Given the description of an element on the screen output the (x, y) to click on. 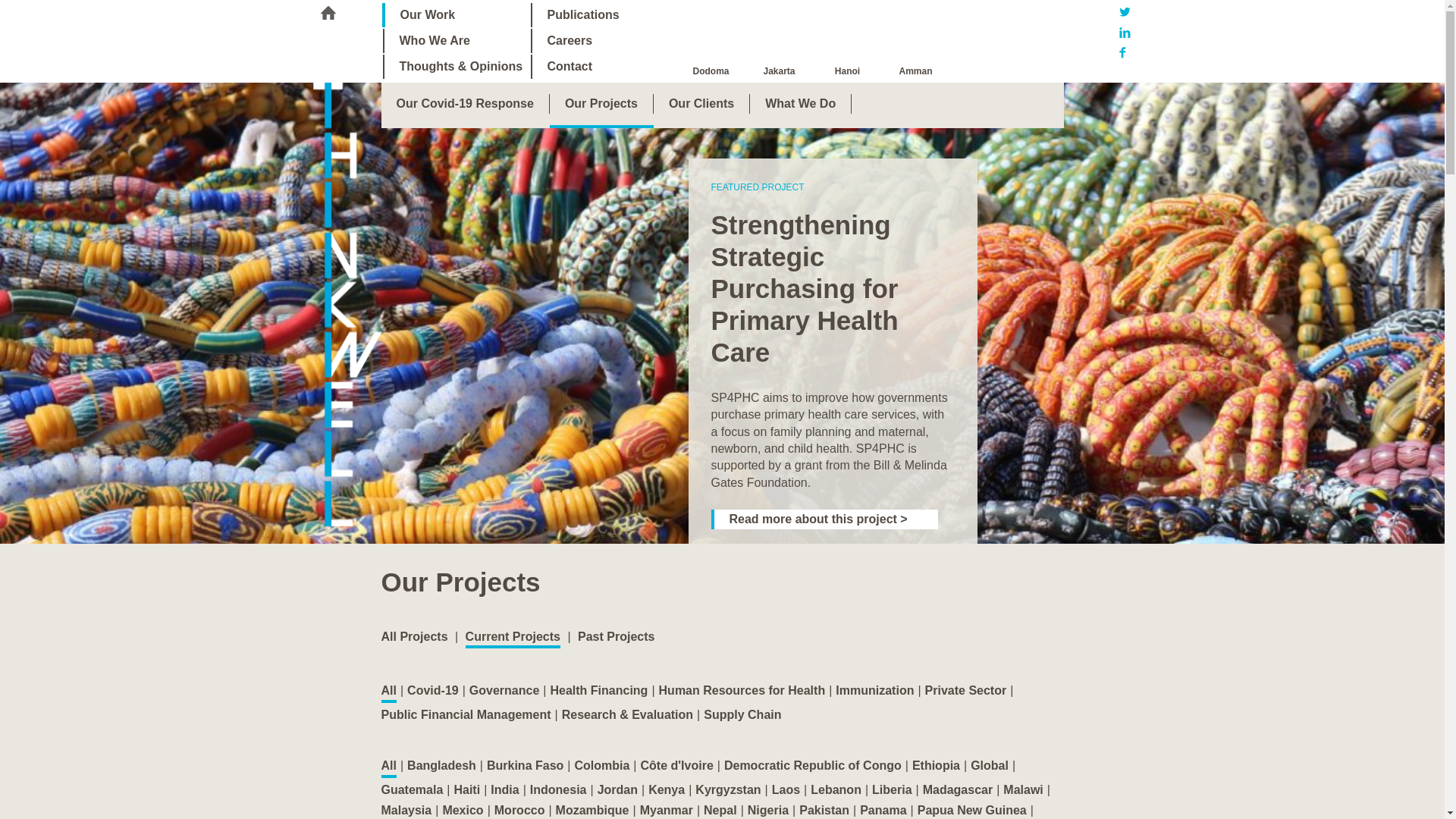
Our Work (456, 15)
